Given the description of an element on the screen output the (x, y) to click on. 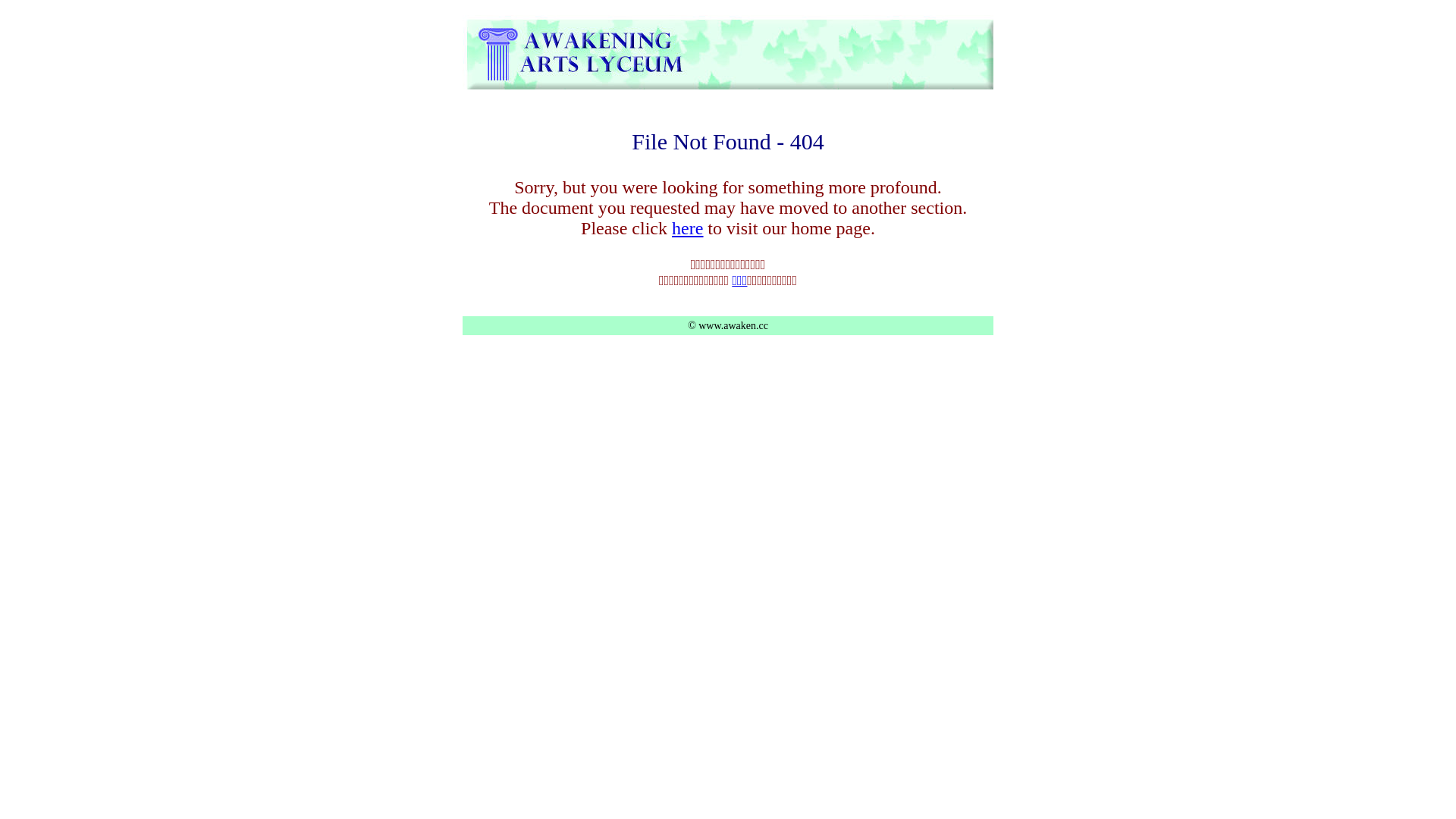
here Element type: text (686, 228)
